Given the description of an element on the screen output the (x, y) to click on. 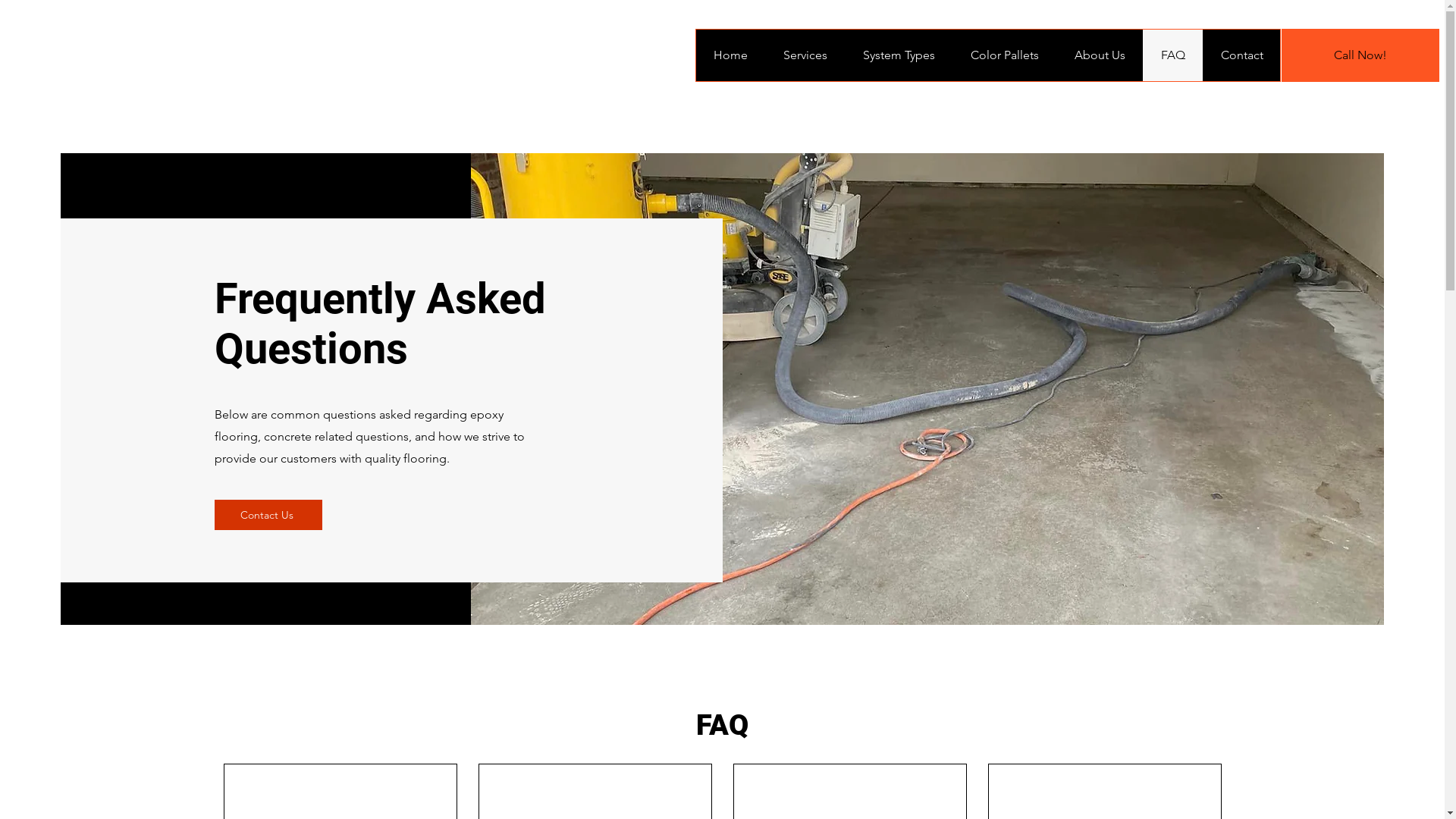
Contact Us Element type: text (268, 514)
Contact Element type: text (1241, 55)
Color Pallets Element type: text (1004, 55)
System Types Element type: text (898, 55)
Home Element type: text (730, 55)
About Us Element type: text (1099, 55)
Services Element type: text (804, 55)
FAQ Element type: text (1172, 55)
Call Now! Element type: text (1360, 54)
